Given the description of an element on the screen output the (x, y) to click on. 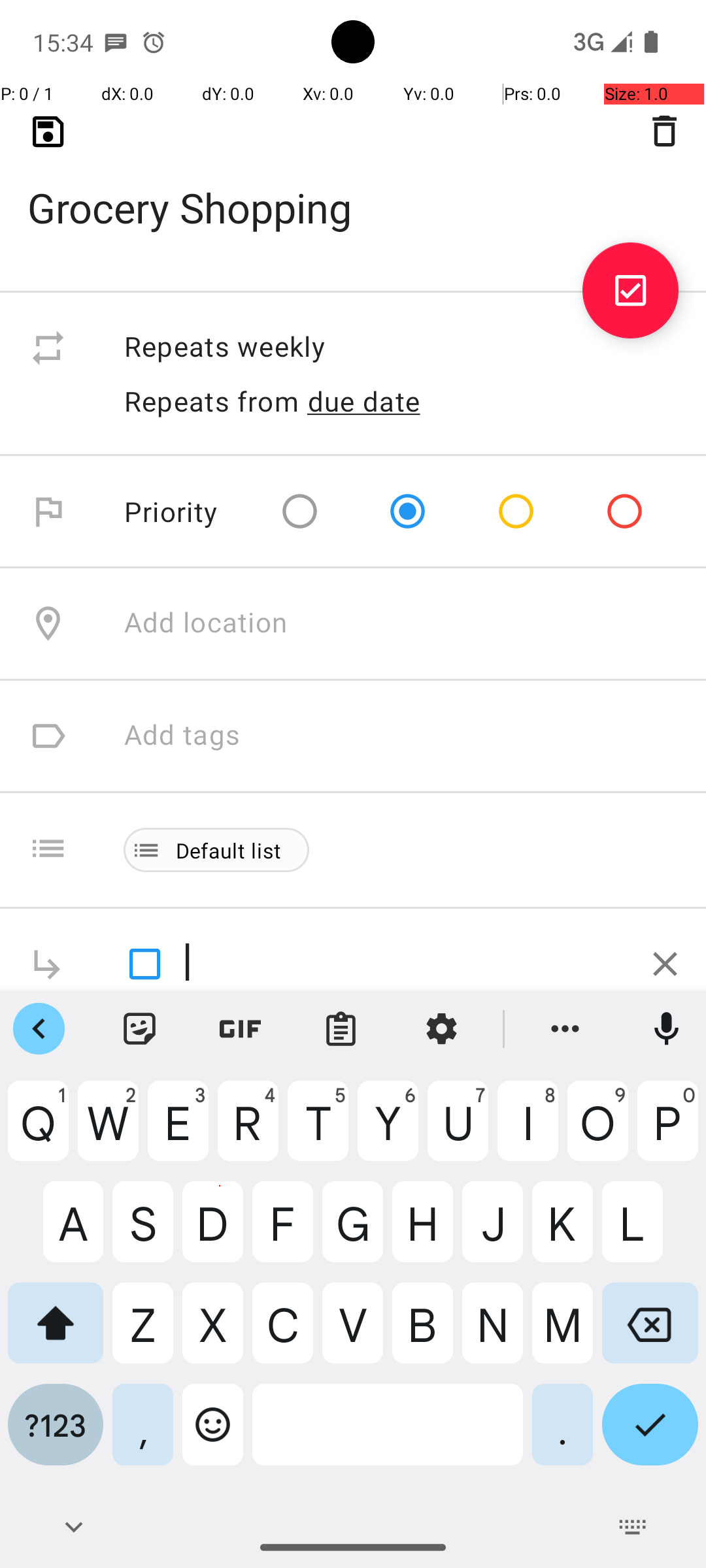
Repeats weekly Element type: android.widget.TextView (400, 347)
Repeats from Element type: android.widget.TextView (211, 400)
due date Element type: android.widget.TextView (363, 400)
